Given the description of an element on the screen output the (x, y) to click on. 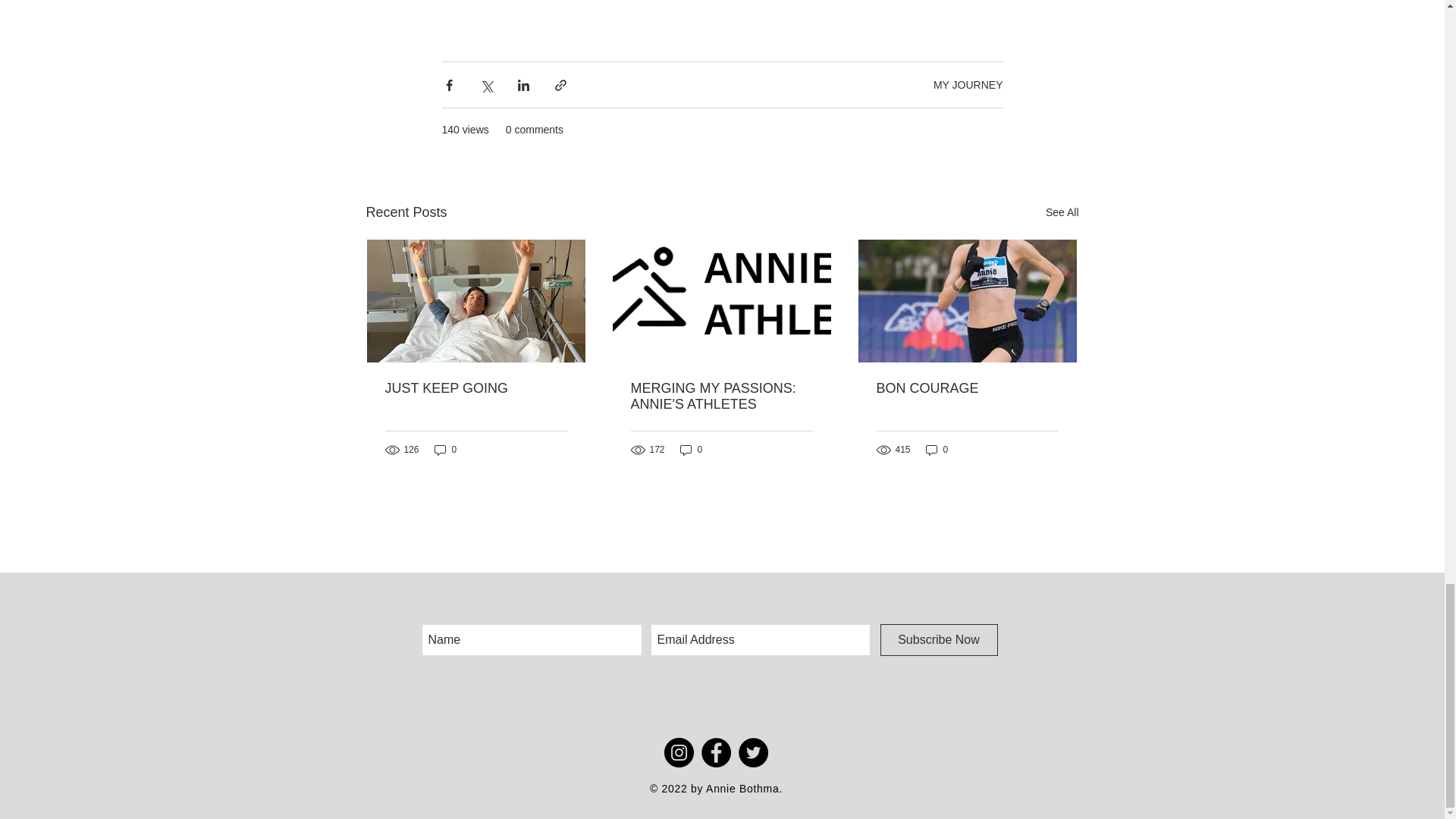
MY JOURNEY (968, 84)
See All (1061, 212)
0 (691, 450)
BON COURAGE (967, 388)
Subscribe Now (938, 640)
MERGING MY PASSIONS: ANNIE'S ATHLETES (721, 396)
0 (937, 450)
JUST KEEP GOING (476, 388)
0 (445, 450)
